Given the description of an element on the screen output the (x, y) to click on. 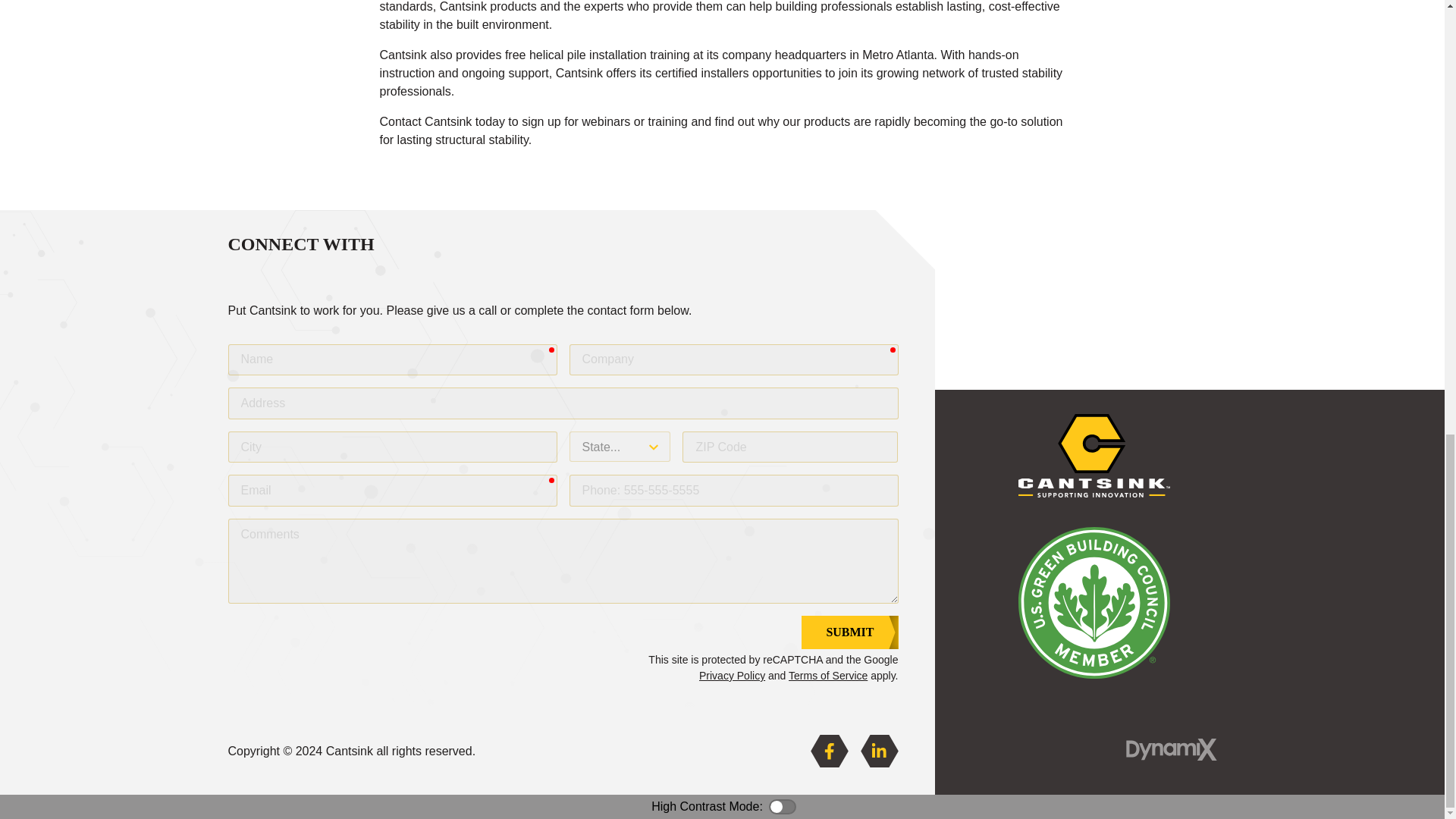
LinkedIn (879, 751)
Facebook (828, 751)
Enter a valid 5 digit ZIP code (790, 447)
